Given the description of an element on the screen output the (x, y) to click on. 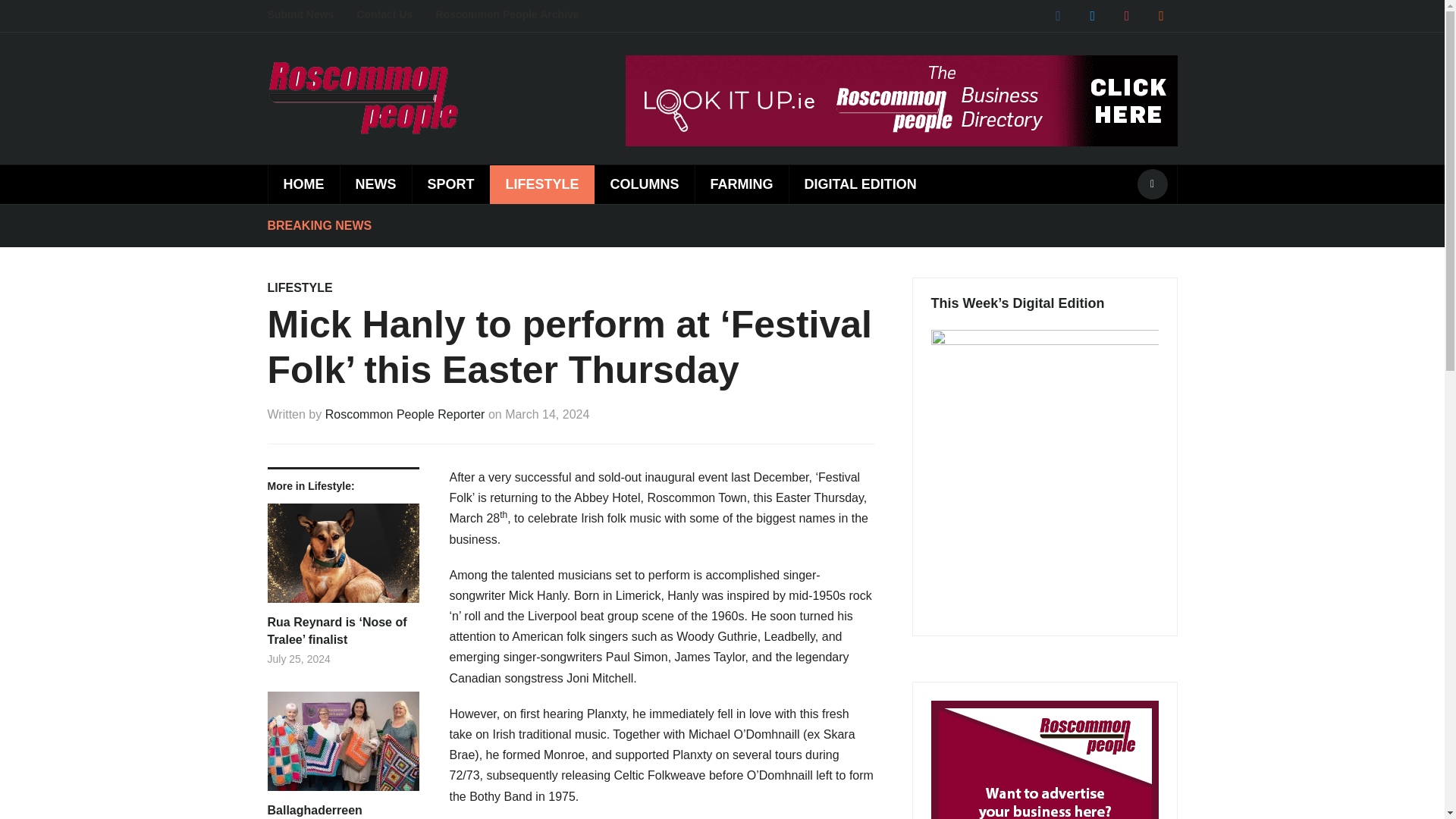
Friend me on Facebook (1057, 14)
Search (1152, 183)
NEWS (375, 184)
Contact Us (395, 15)
HOME (302, 184)
SPORT (449, 184)
Follow Me (1092, 14)
instagram (1126, 14)
twitter (1092, 14)
LIFESTYLE (298, 287)
Roscommon People Archive (518, 15)
FARMING (741, 184)
LIFESTYLE (541, 184)
DIGITAL EDITION (860, 184)
COLUMNS (644, 184)
